Given the description of an element on the screen output the (x, y) to click on. 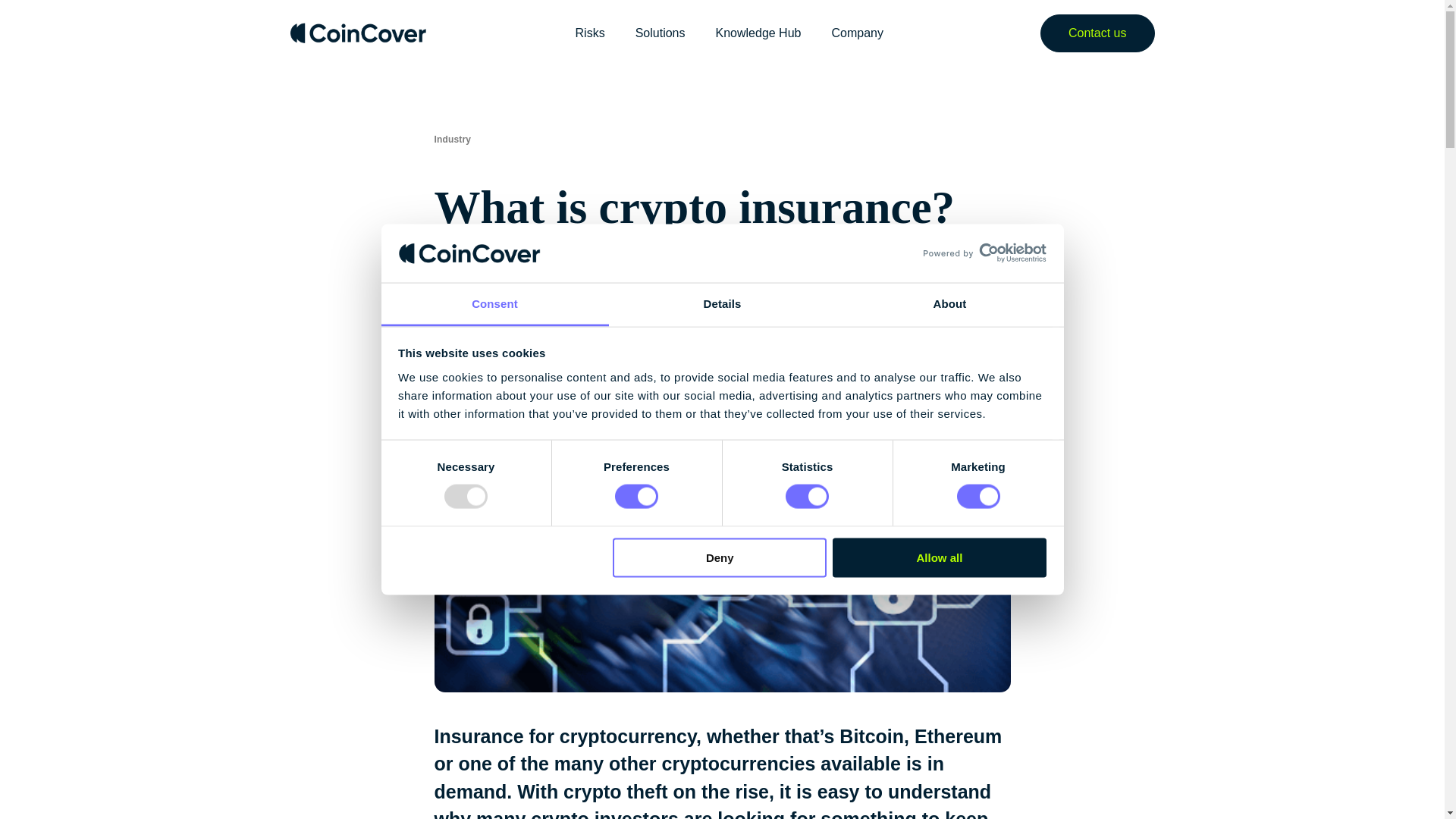
About (948, 303)
Consent (494, 303)
Details (721, 303)
